Given the description of an element on the screen output the (x, y) to click on. 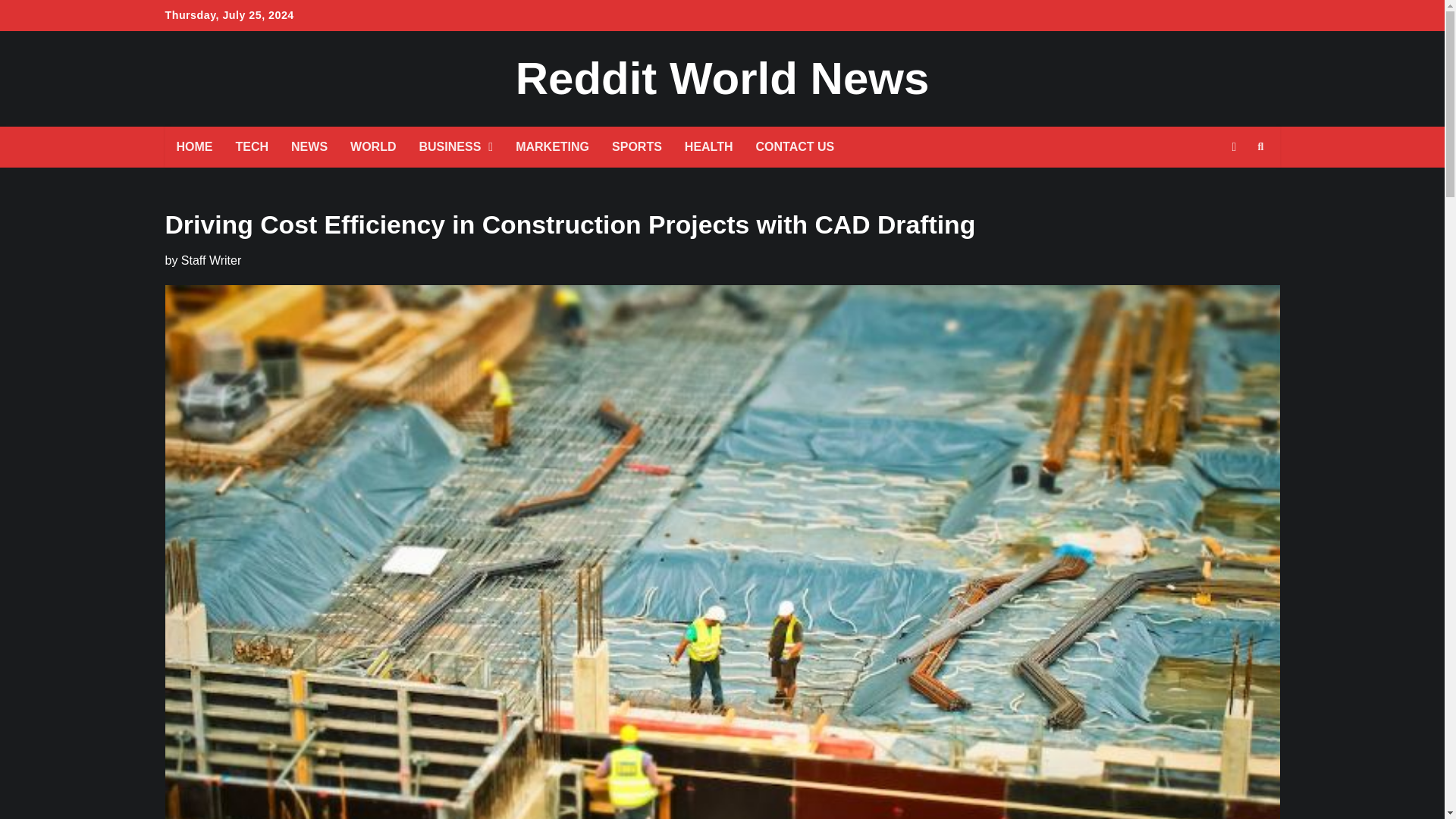
WORLD (373, 146)
MARKETING (551, 146)
BUSINESS (456, 146)
HEALTH (708, 146)
CONTACT US (794, 146)
NEWS (309, 146)
View Random Post (1233, 146)
TECH (252, 146)
HOME (194, 146)
Search (1232, 182)
Staff Writer (210, 259)
Reddit World News (722, 78)
SPORTS (635, 146)
Search (1260, 146)
